Given the description of an element on the screen output the (x, y) to click on. 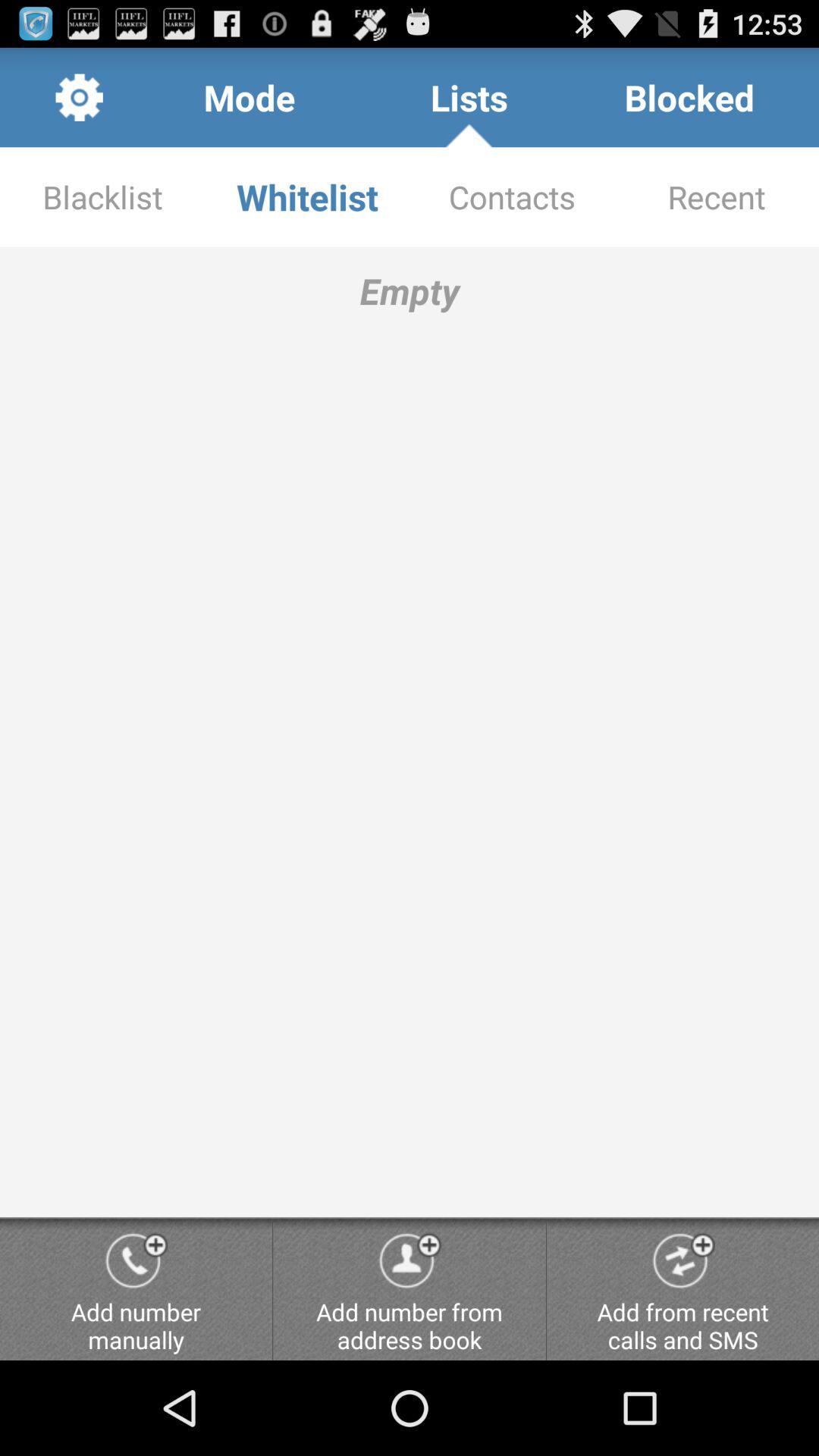
flip until the blocked app (689, 97)
